Given the description of an element on the screen output the (x, y) to click on. 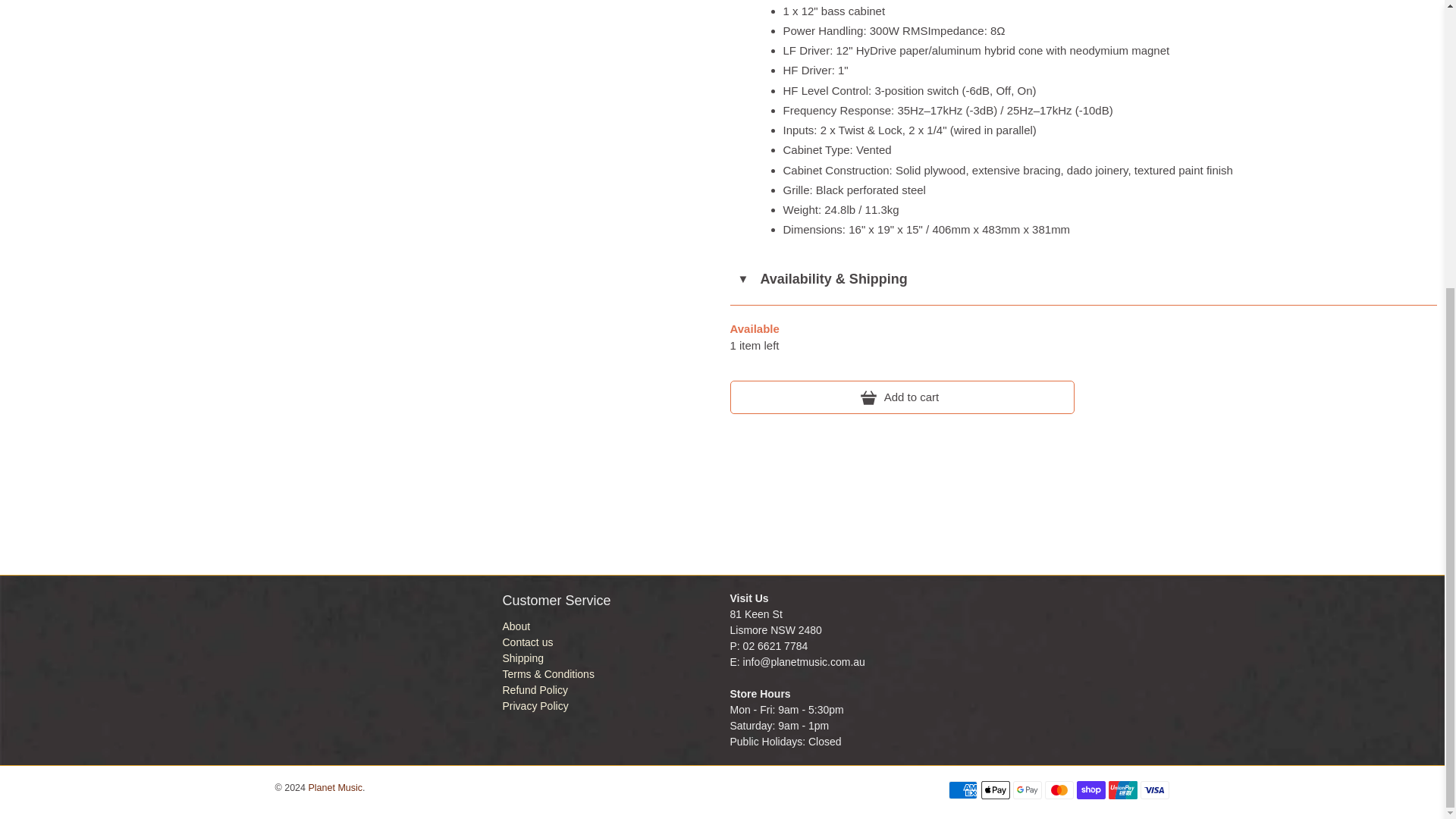
Shop Pay (1091, 790)
Planet Music (359, 666)
Union Pay (1122, 790)
Mastercard (1059, 790)
Apple Pay (995, 790)
Visa (1154, 790)
American Express (962, 790)
Google Pay (1027, 790)
